Given the description of an element on the screen output the (x, y) to click on. 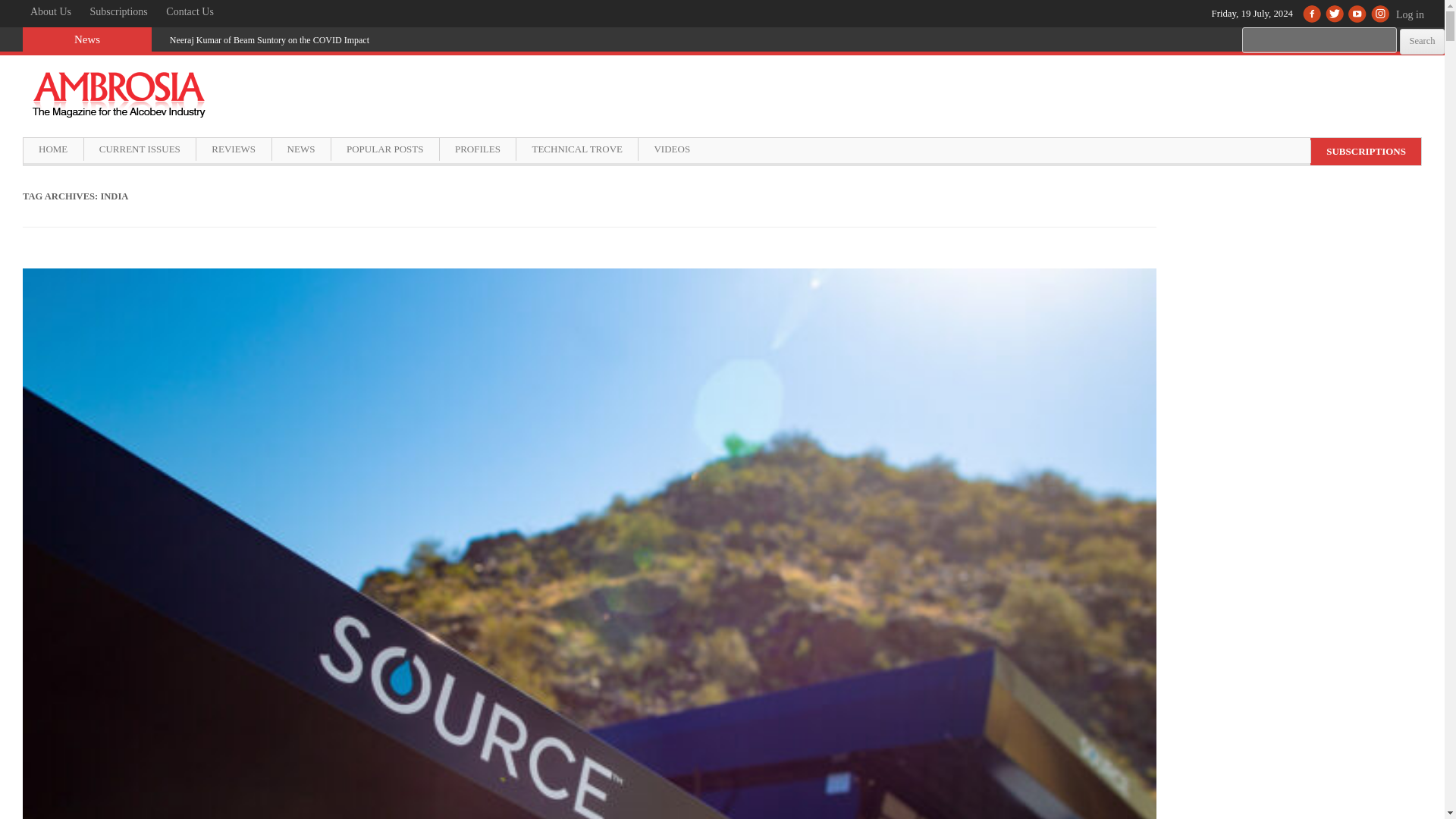
PROFILES (477, 149)
HOME (52, 149)
VIDEOS (670, 149)
REVIEWS (232, 149)
About Us (50, 12)
Subscriptions (118, 12)
Log in (1415, 22)
TECHNICAL TROVE (576, 149)
SUBSCRIPTIONS (1365, 151)
CURRENT ISSUES (138, 149)
POPULAR POSTS (384, 149)
NEWS (300, 149)
Neeraj Kumar of Beam Suntory on the COVID Impact (269, 40)
